Given the description of an element on the screen output the (x, y) to click on. 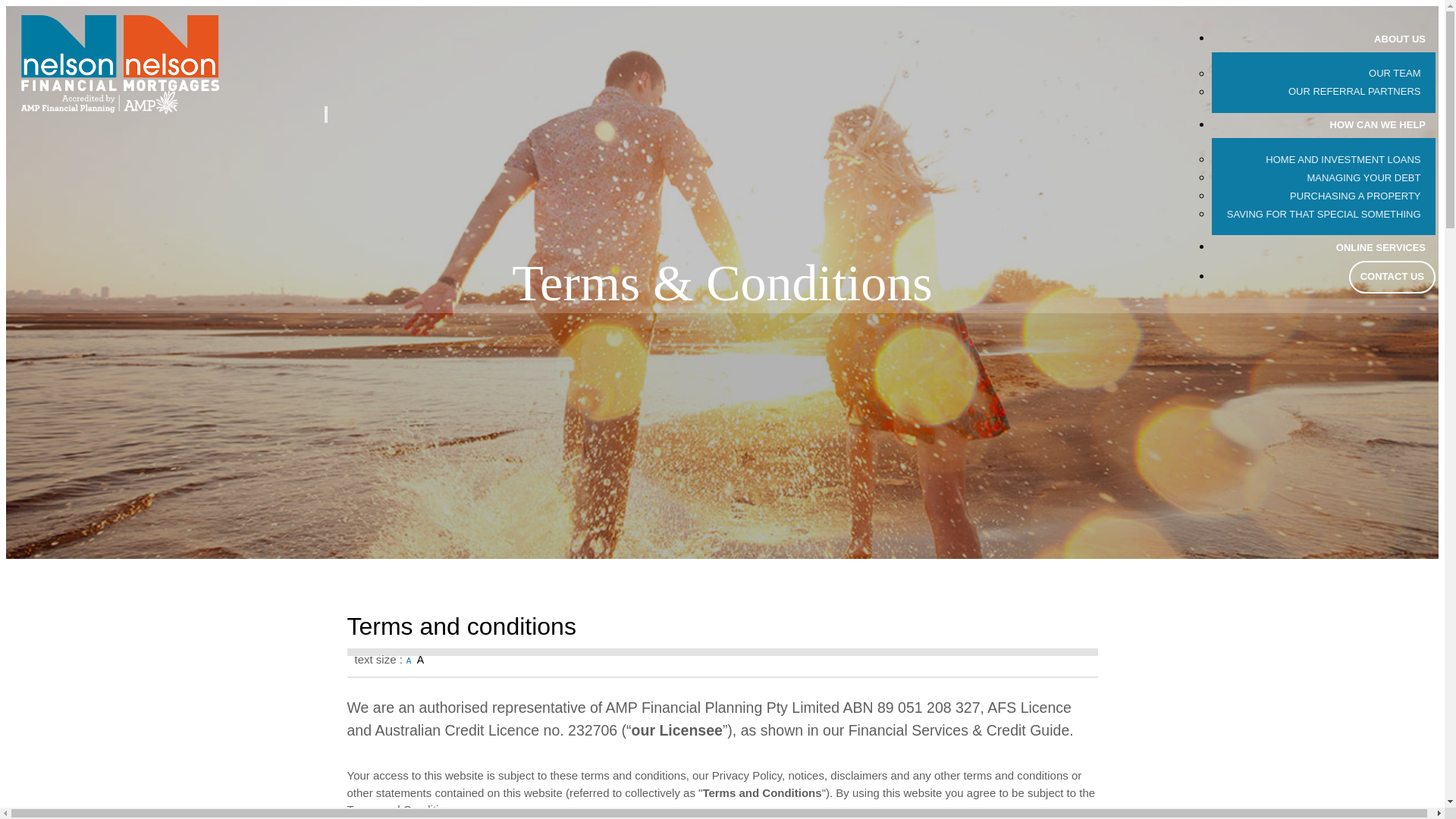
HOME AND INVESTMENT LOANS Element type: text (1343, 159)
OUR REFERRAL PARTNERS Element type: text (1354, 91)
PURCHASING A PROPERTY Element type: text (1355, 196)
SAVING FOR THAT SPECIAL SOMETHING Element type: text (1323, 214)
ABOUT US Element type: text (1399, 39)
HOW CAN WE HELP Element type: text (1377, 125)
CONTACT US Element type: text (1392, 277)
ONLINE SERVICES Element type: text (1380, 247)
MANAGING YOUR DEBT Element type: text (1363, 177)
A Element type: text (408, 660)
OUR TEAM Element type: text (1394, 73)
A Element type: text (418, 659)
